Given the description of an element on the screen output the (x, y) to click on. 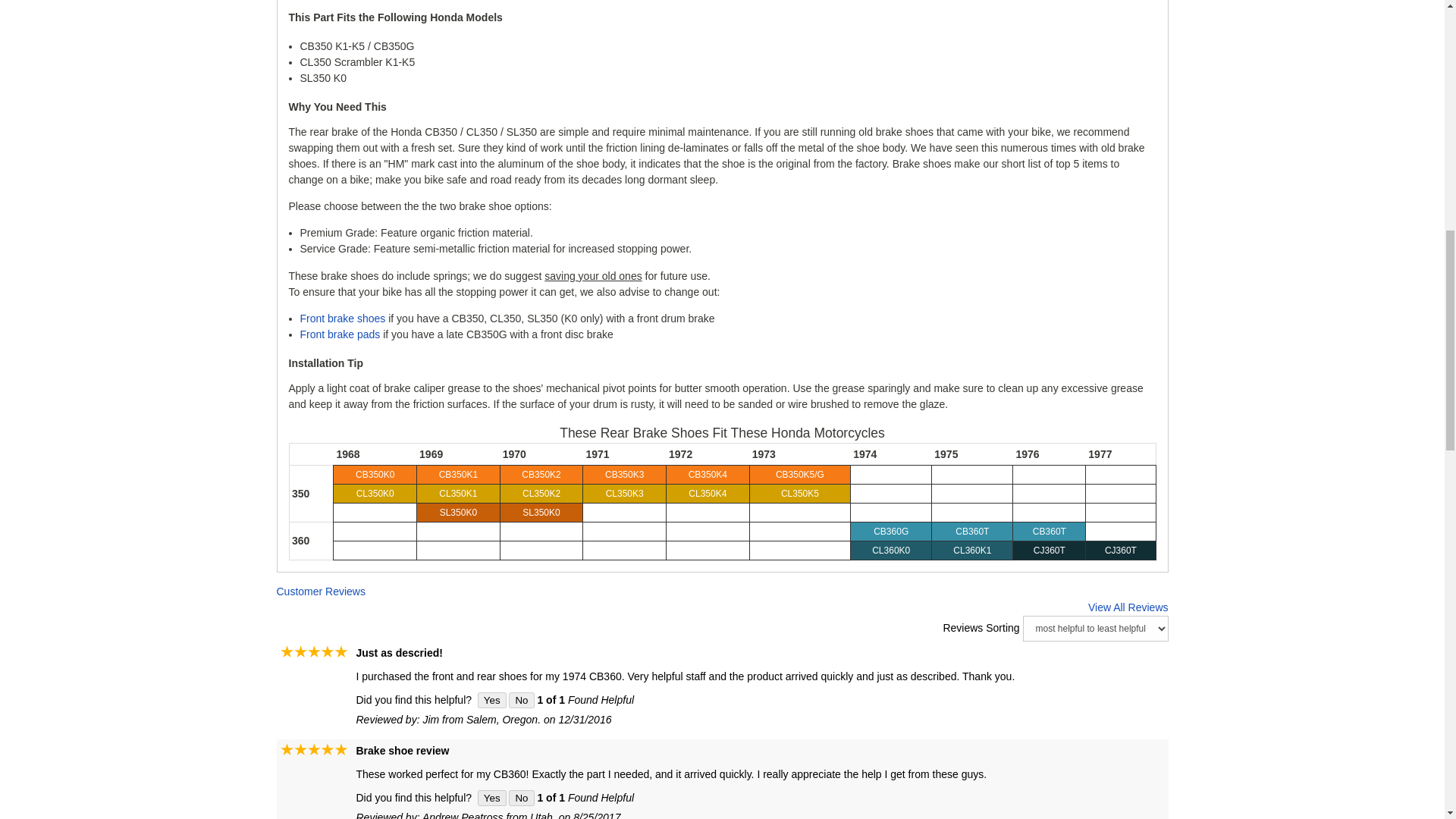
No (521, 700)
Yes (491, 700)
No (521, 797)
Yes (491, 797)
